Given the description of an element on the screen output the (x, y) to click on. 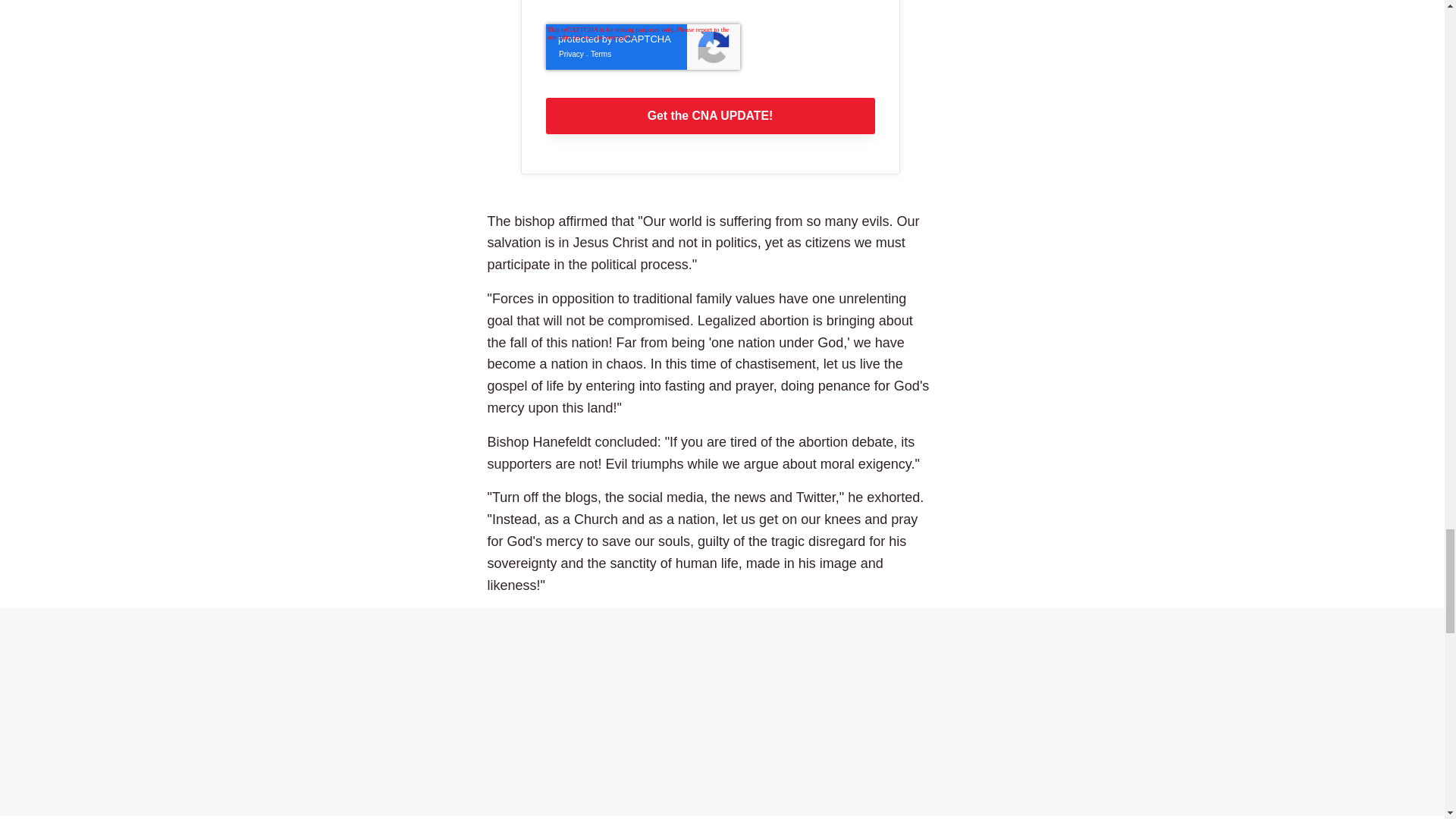
3rd party ad content (721, 711)
reCAPTCHA (642, 46)
Get the CNA UPDATE! (710, 115)
